Given the description of an element on the screen output the (x, y) to click on. 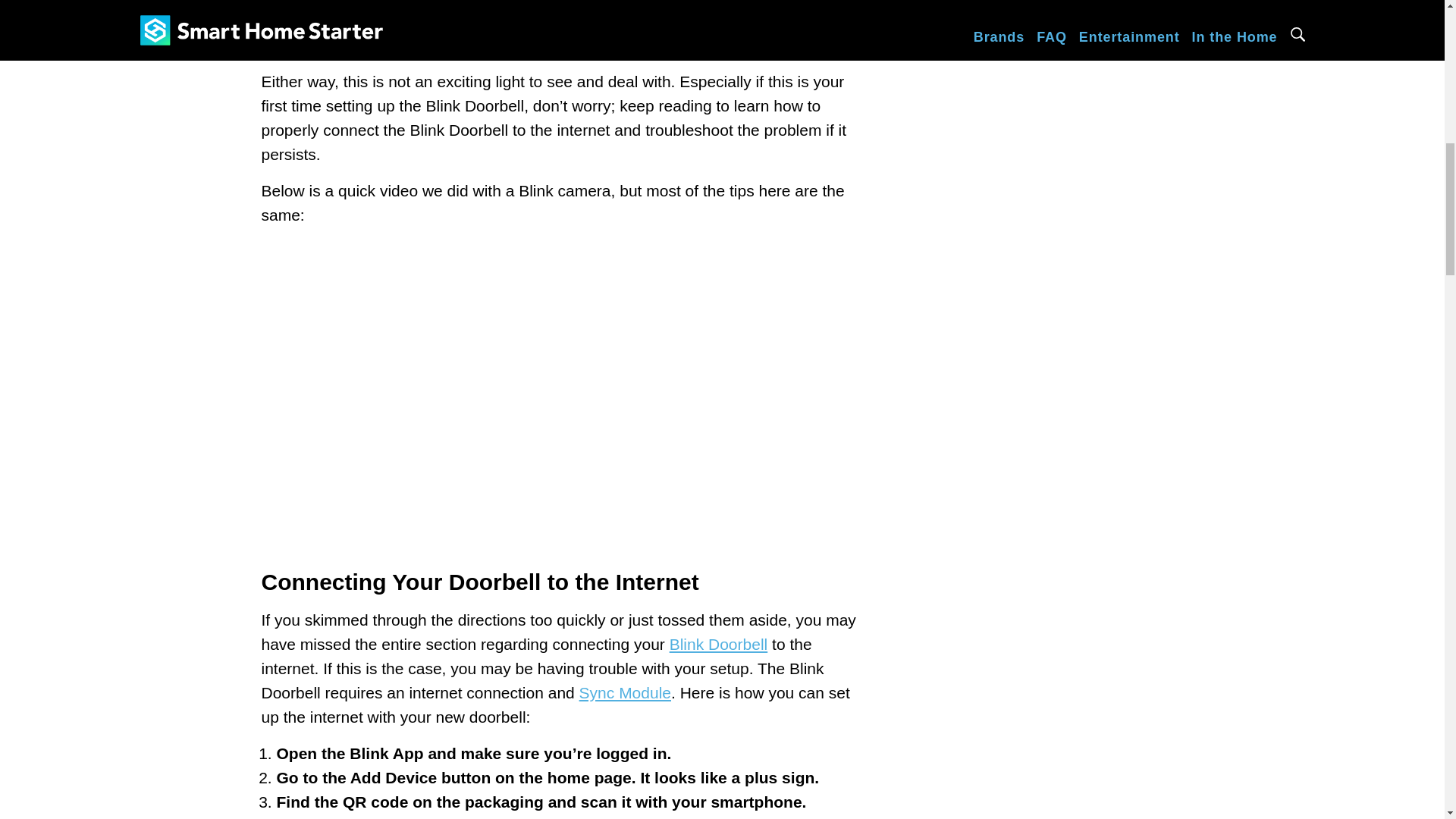
Sync Module (625, 692)
Blink Doorbell (718, 643)
